Given the description of an element on the screen output the (x, y) to click on. 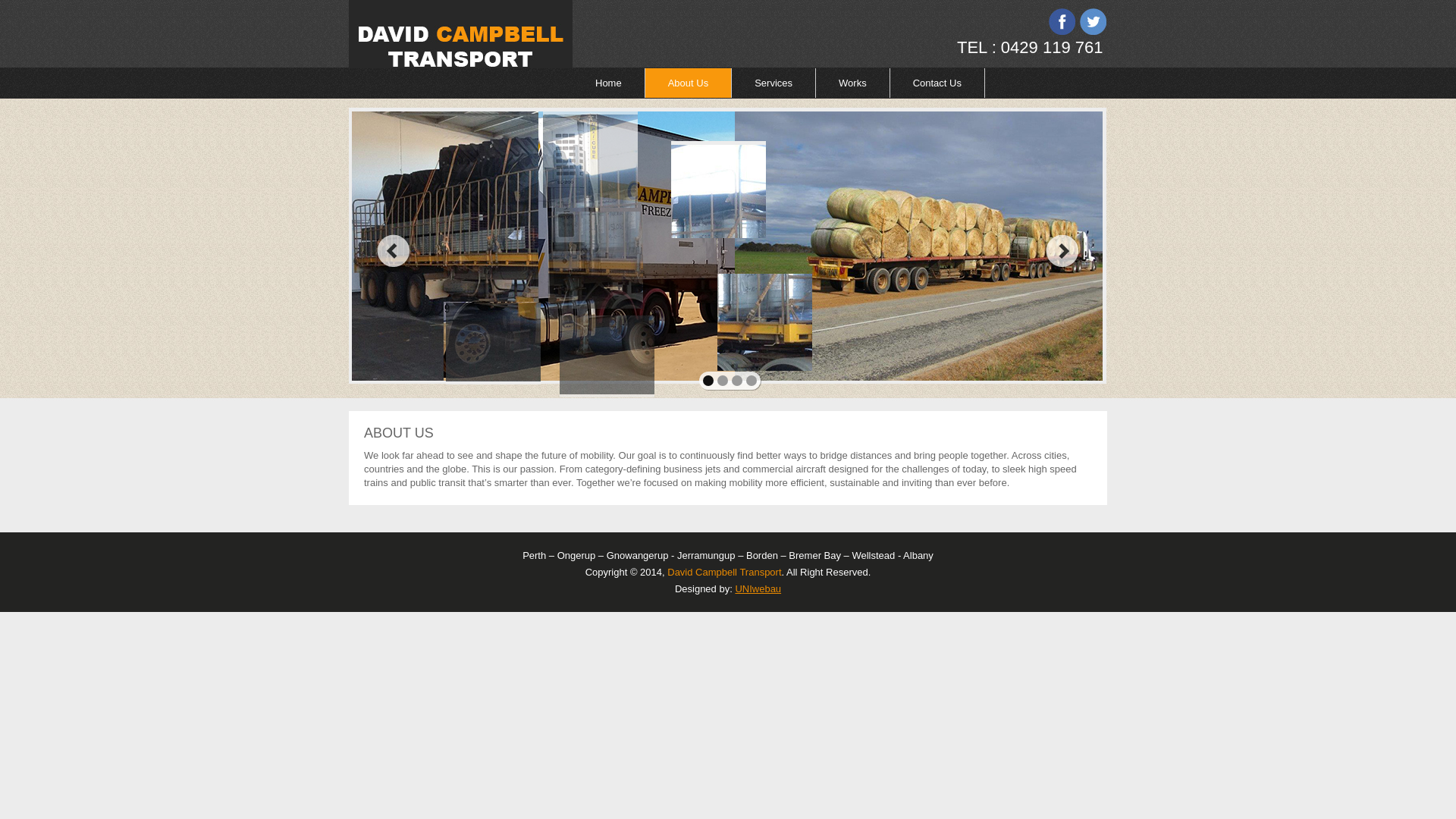
Home Element type: text (608, 82)
Services Element type: text (773, 82)
Contact Us Element type: text (937, 82)
About Us Element type: text (688, 82)
next Element type: text (1062, 250)
prev Element type: text (393, 250)
UNIwebau Element type: text (757, 588)
Works Element type: text (852, 82)
